Given the description of an element on the screen output the (x, y) to click on. 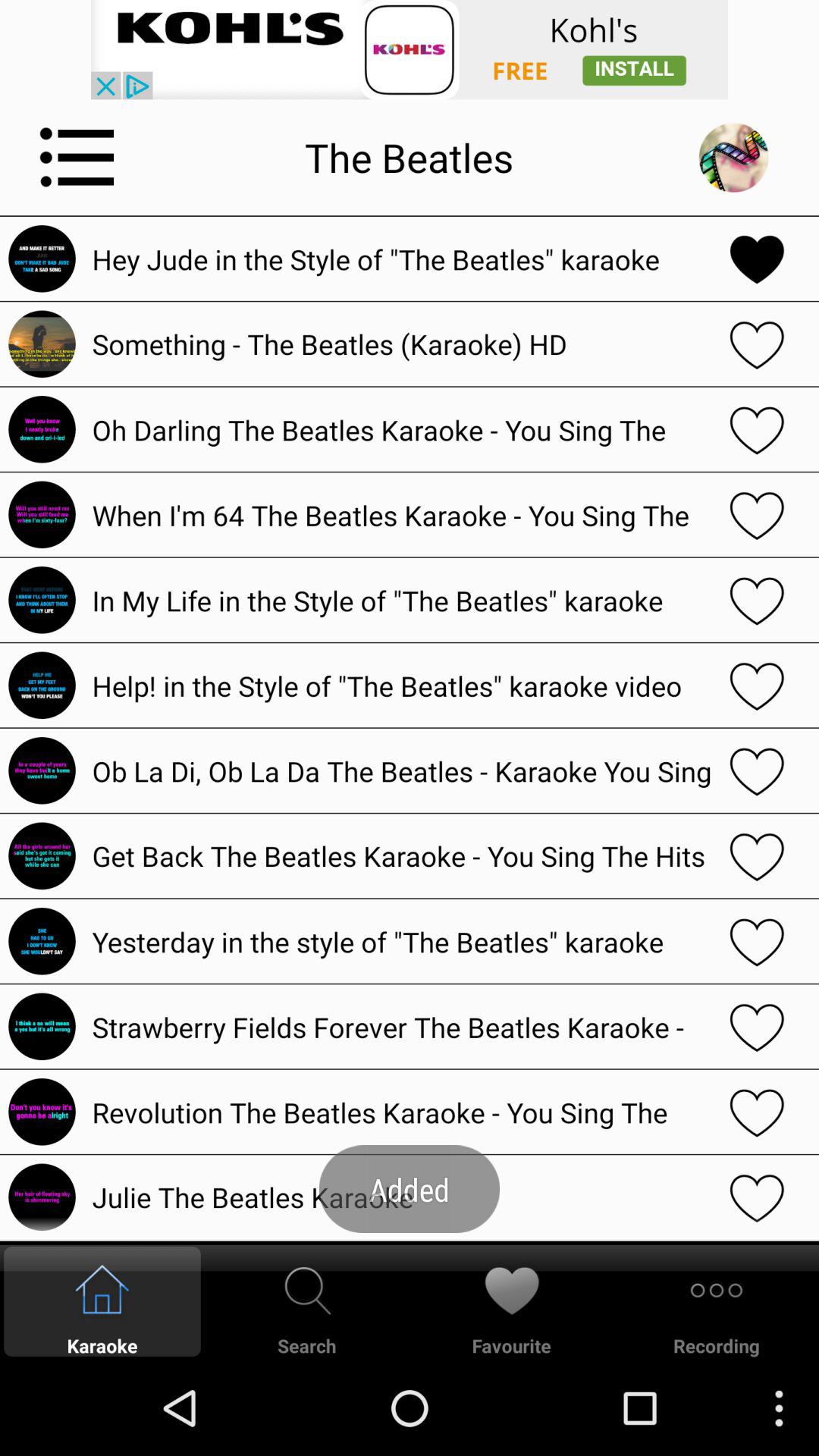
like the song (756, 941)
